Given the description of an element on the screen output the (x, y) to click on. 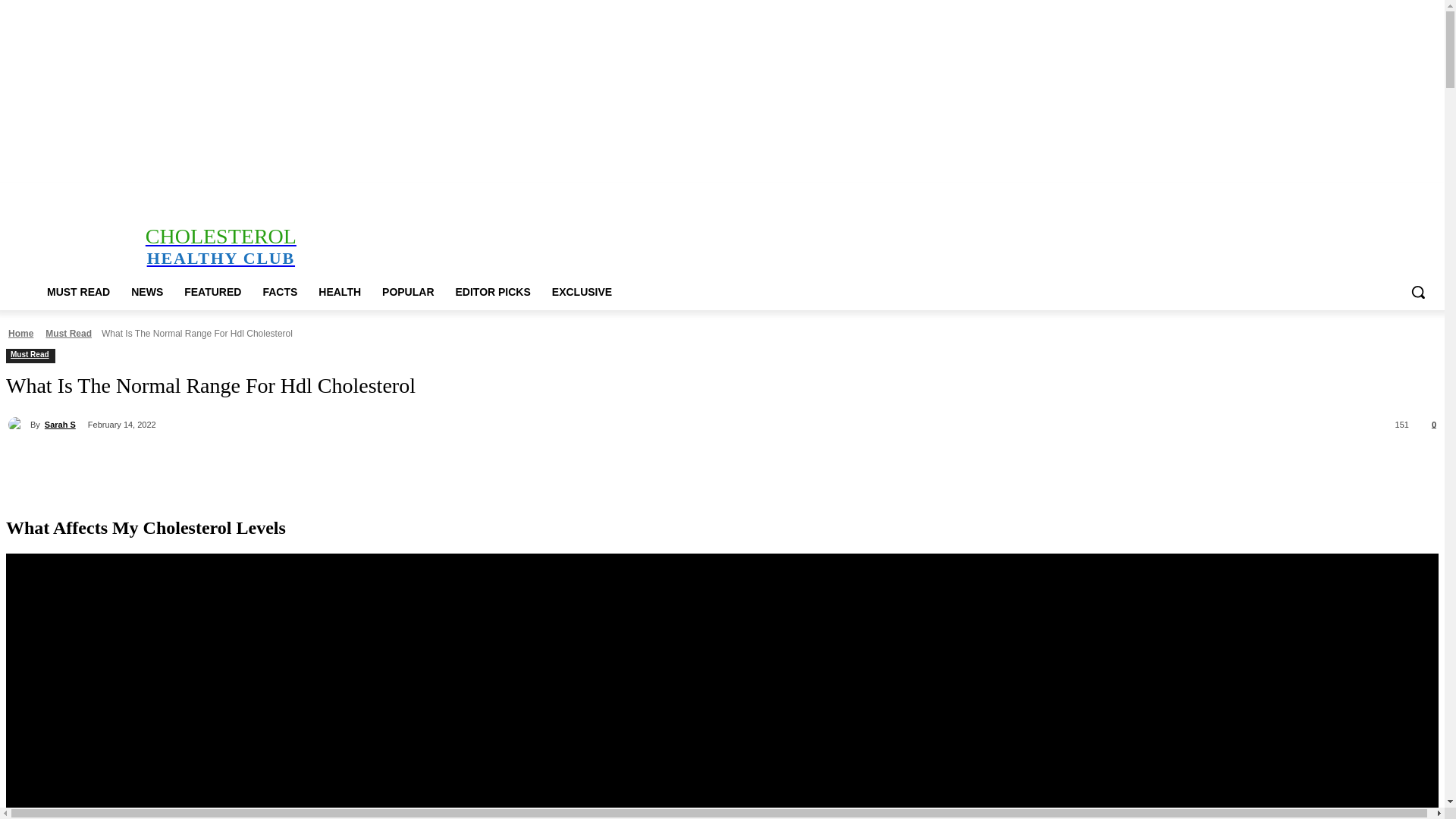
Editor Picks (419, 192)
Facts (298, 192)
Must Read (177, 192)
View all posts in Must Read (68, 333)
NEWS (146, 291)
POPULAR (407, 291)
News (220, 245)
Instagram (220, 192)
FACTS (1350, 193)
